Given the description of an element on the screen output the (x, y) to click on. 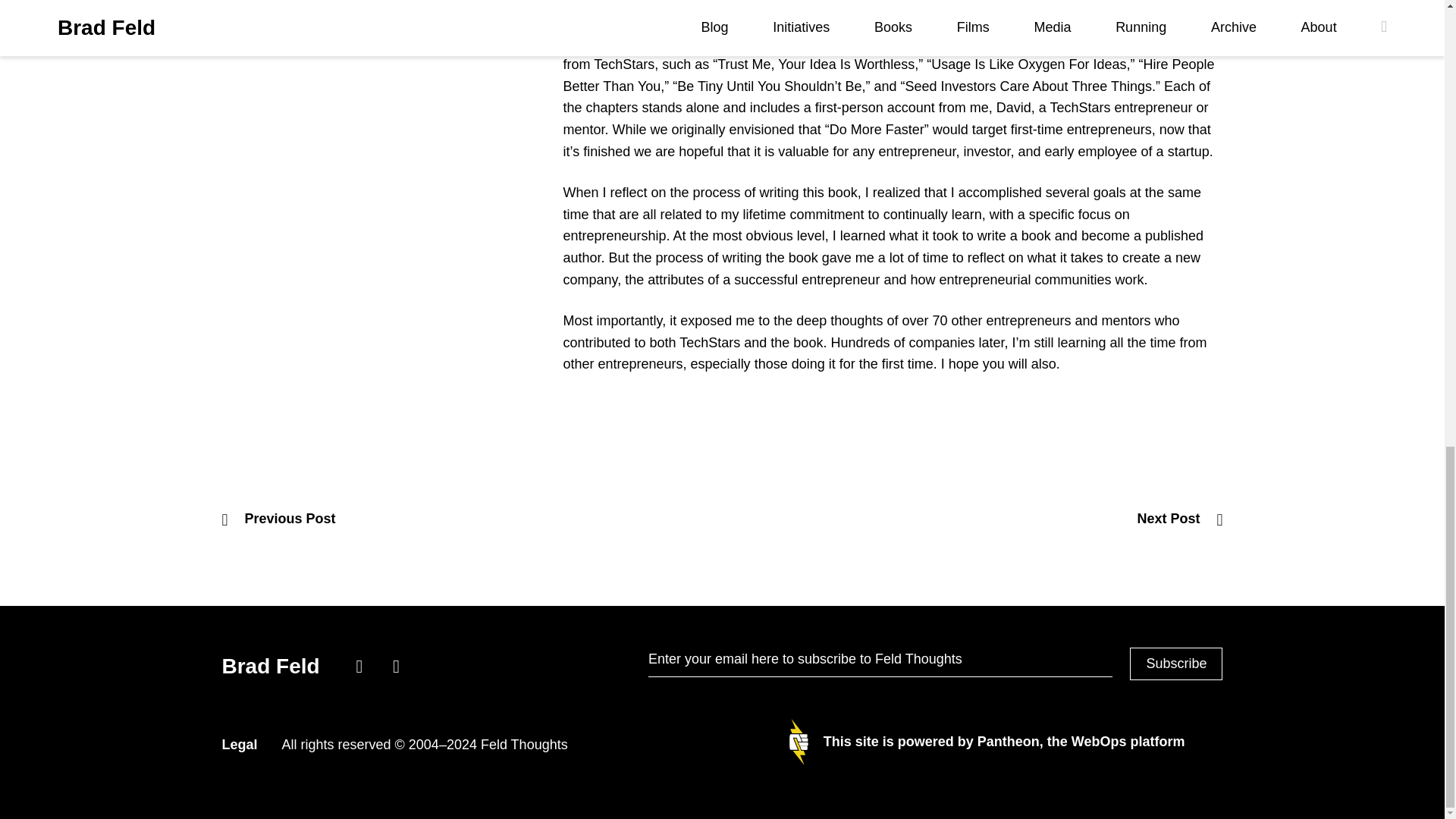
Previous Post (277, 518)
This site is powered by Pantheon, the WebOps platform (987, 741)
Legal (239, 744)
Next Post (1180, 518)
Subscribe (1176, 663)
Brad Feld (272, 666)
